Given the description of an element on the screen output the (x, y) to click on. 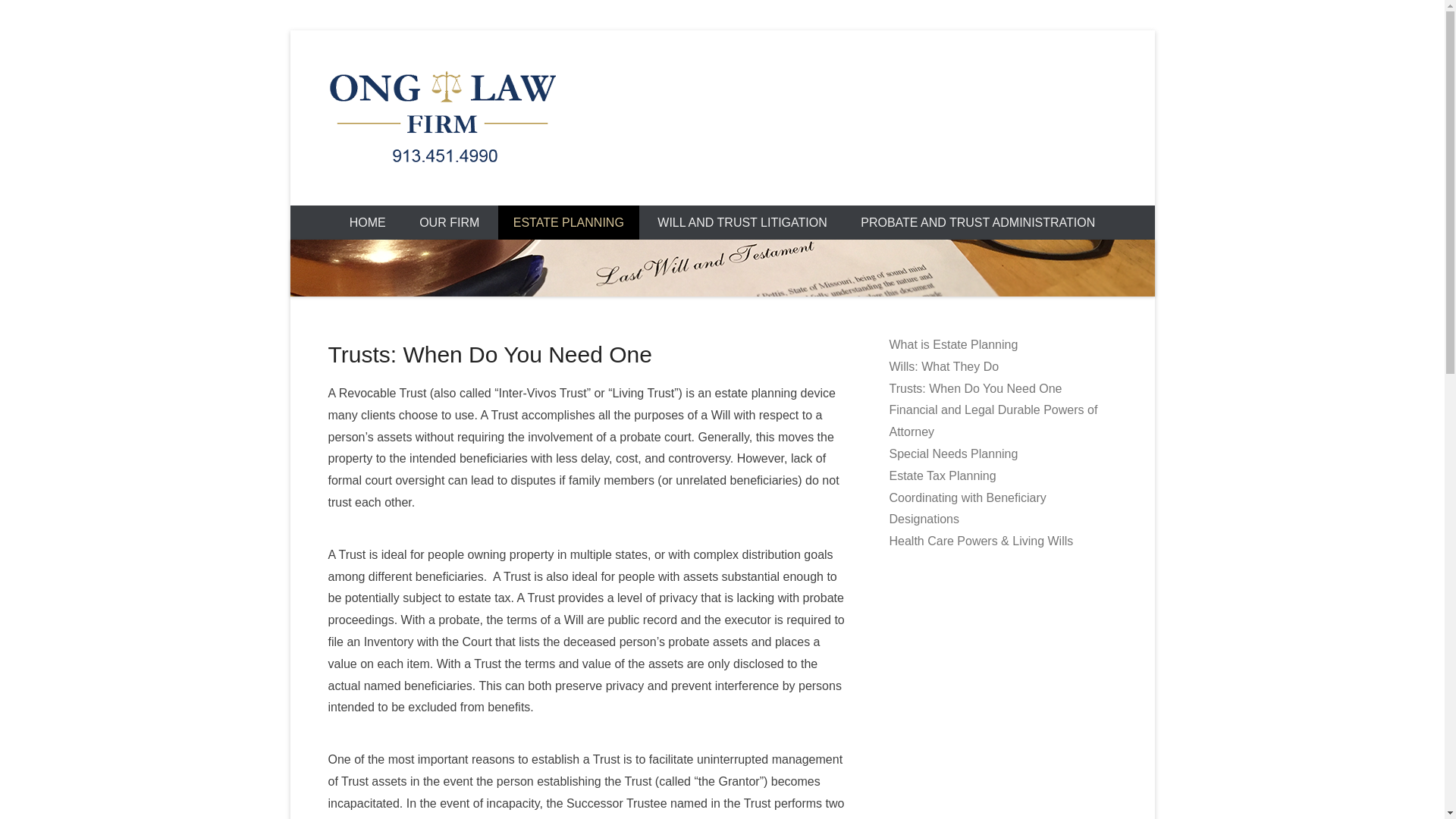
ESTATE PLANNING (568, 222)
Ong Law Firm (453, 193)
Skip to content (329, 215)
PROBATE AND TRUST ADMINISTRATION (977, 222)
HOME (367, 222)
WILL AND TRUST LITIGATION (741, 222)
Permalink to Trusts: When Do You Need One (488, 354)
Ong Law Firm (453, 193)
Ong Law Firm (721, 117)
OUR FIRM (449, 222)
Skip to content (329, 215)
